Given the description of an element on the screen output the (x, y) to click on. 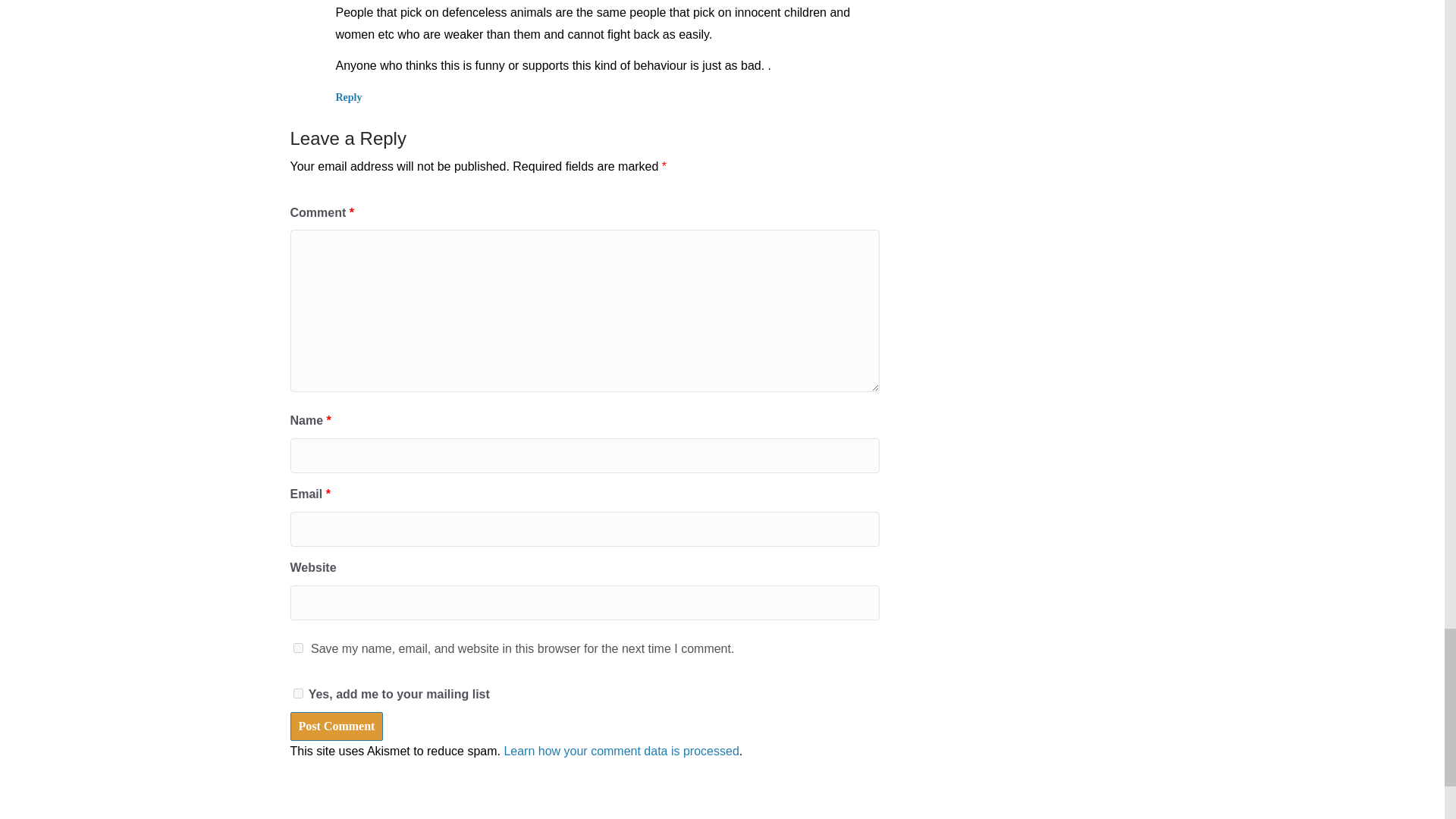
1 (297, 693)
Post Comment (335, 726)
yes (297, 647)
